Given the description of an element on the screen output the (x, y) to click on. 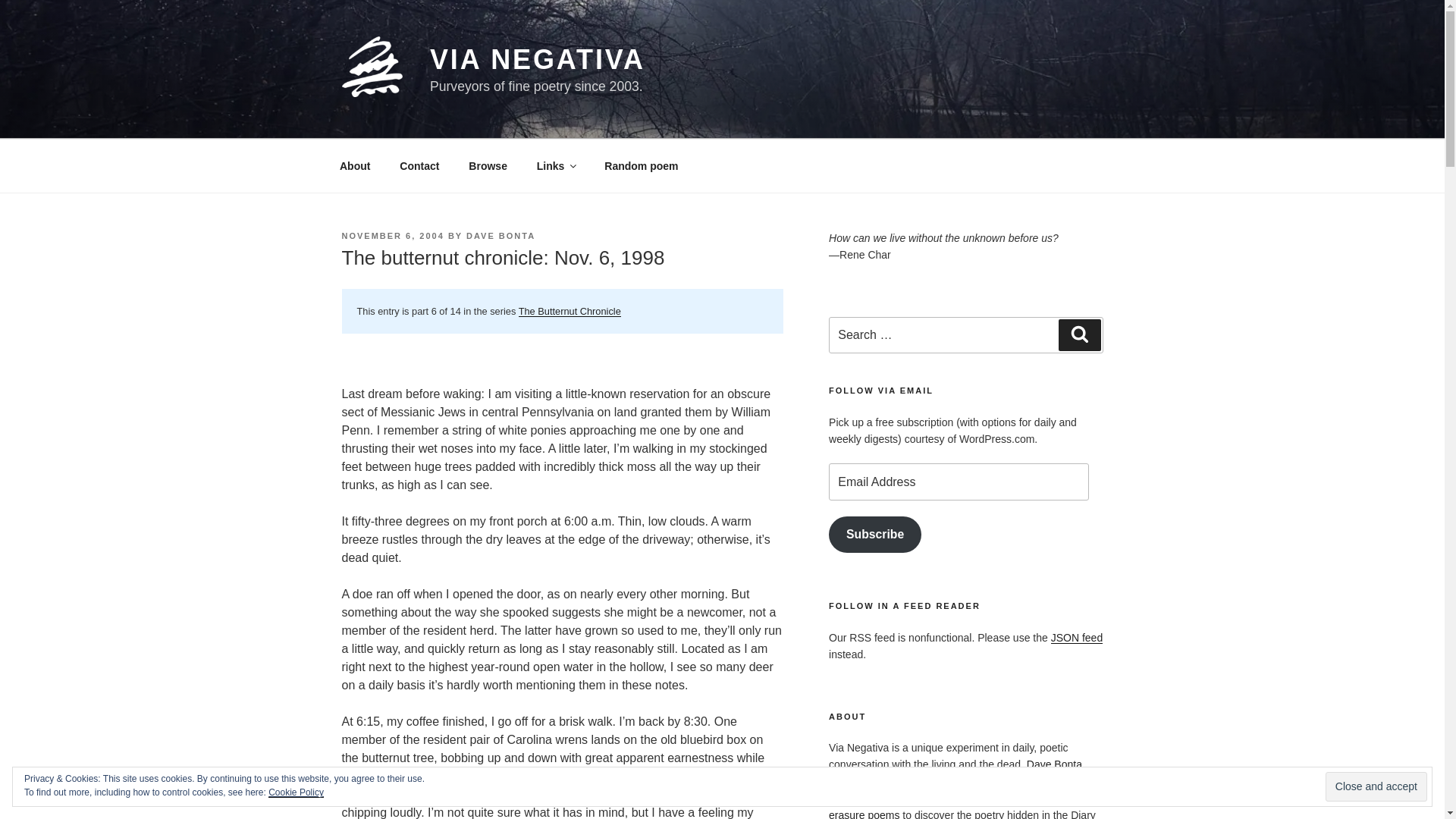
NOVEMBER 6, 2004 (392, 235)
About (354, 165)
Random poem (641, 165)
Links (555, 165)
VIA NEGATIVA (537, 59)
The Butternut Chronicle (569, 310)
Contact (419, 165)
DAVE BONTA (500, 235)
Close and accept (1375, 786)
How to get in touch (419, 165)
About Via Negativa (354, 165)
Browse (488, 165)
The Butternut Chronicle (569, 310)
